Given the description of an element on the screen output the (x, y) to click on. 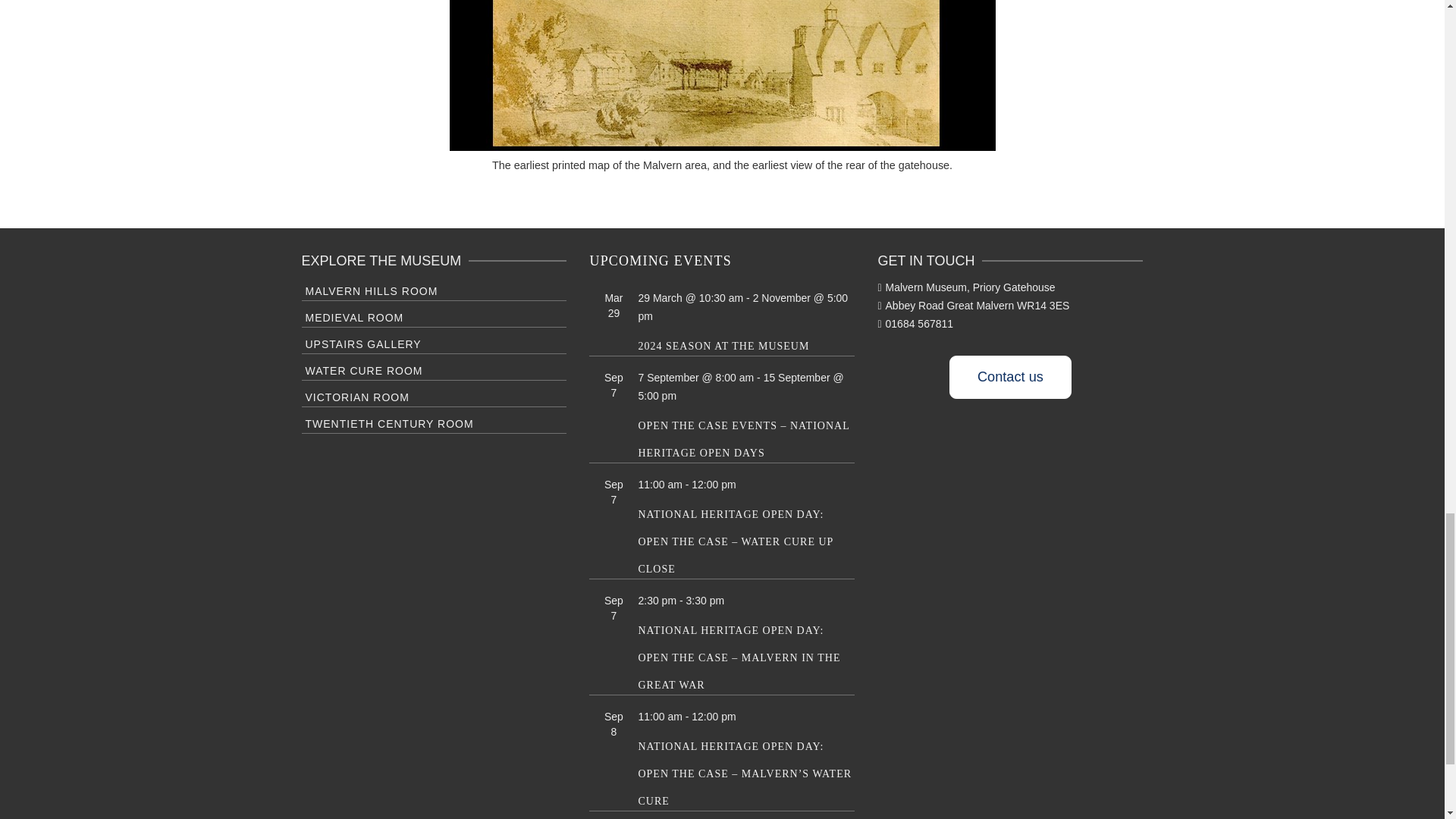
2024 Season at the Museum (723, 346)
UPSTAIRS GALLERY (434, 342)
MEDIEVAL ROOM (434, 315)
MALVERN HILLS ROOM (434, 289)
